Given the description of an element on the screen output the (x, y) to click on. 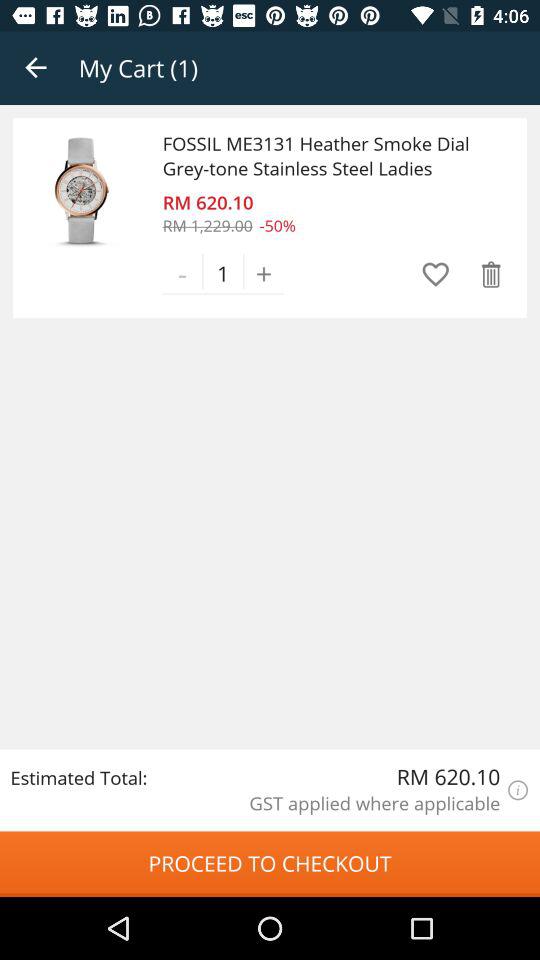
open icon below gst applied where item (270, 863)
